Given the description of an element on the screen output the (x, y) to click on. 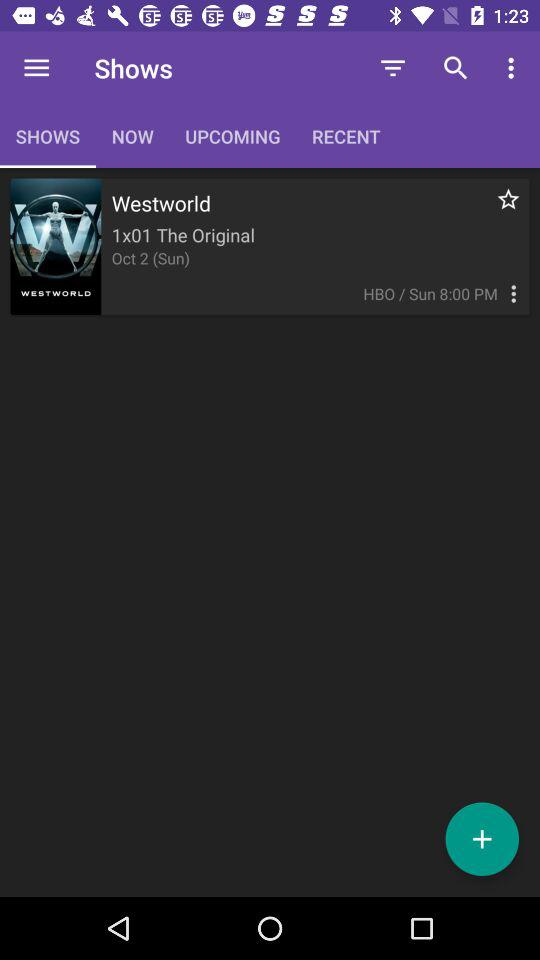
press the icon to the left of shows (36, 68)
